Given the description of an element on the screen output the (x, y) to click on. 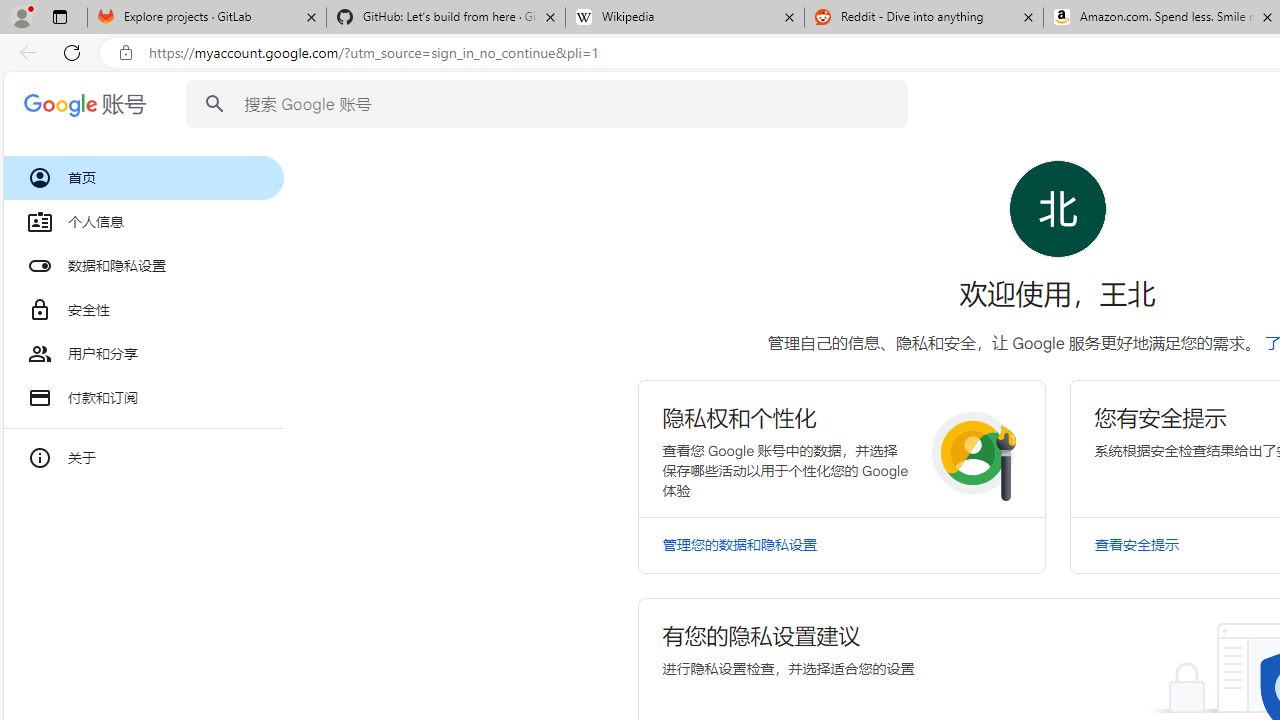
Reddit - Dive into anything (924, 17)
Wikipedia (684, 17)
